Given the description of an element on the screen output the (x, y) to click on. 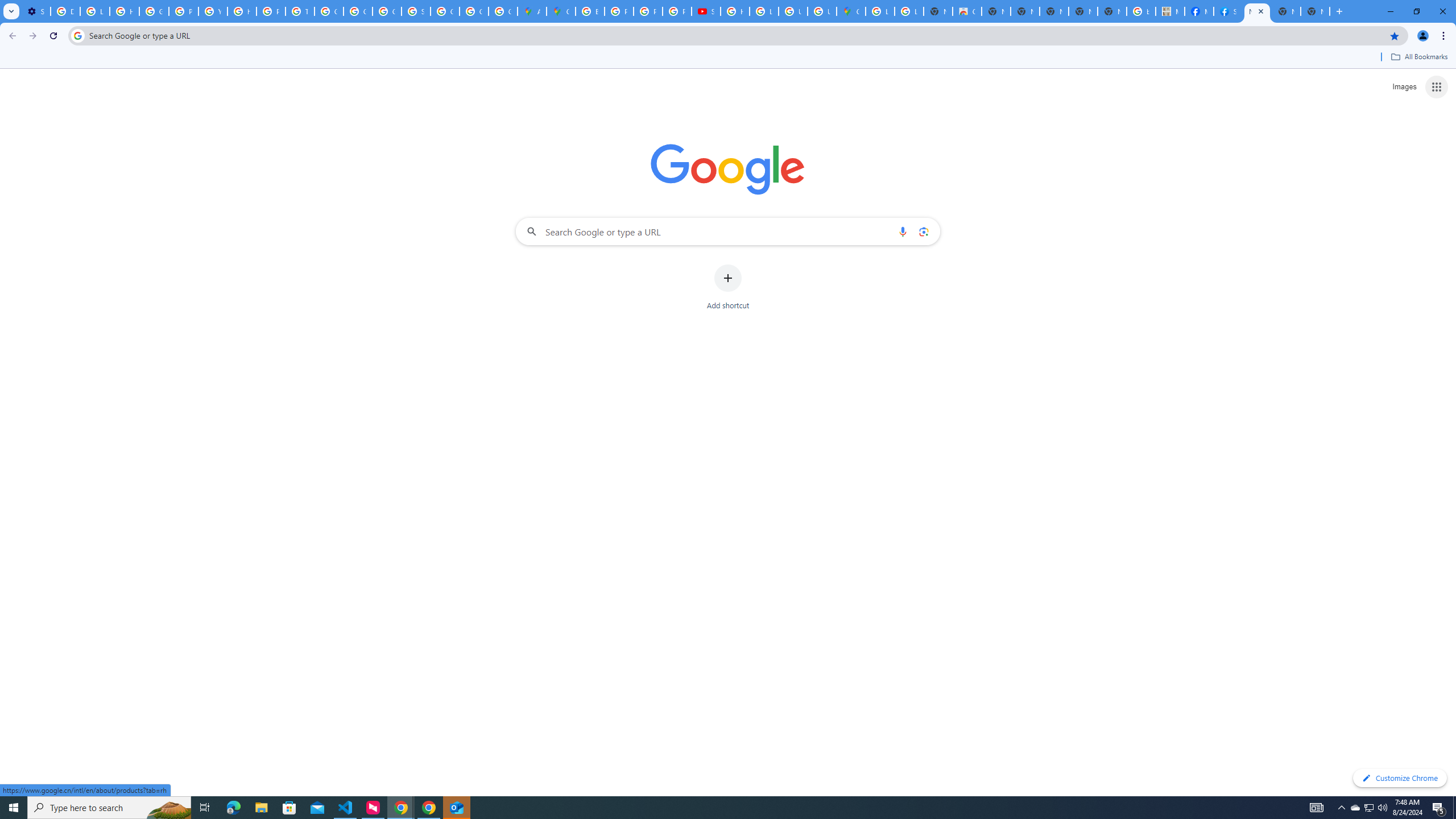
Miley Cyrus | Facebook (1198, 11)
Privacy Help Center - Policies Help (183, 11)
Blogger Policies and Guidelines - Transparency Center (590, 11)
New Tab (1315, 11)
Learn how to find your photos - Google Photos Help (95, 11)
